Given the description of an element on the screen output the (x, y) to click on. 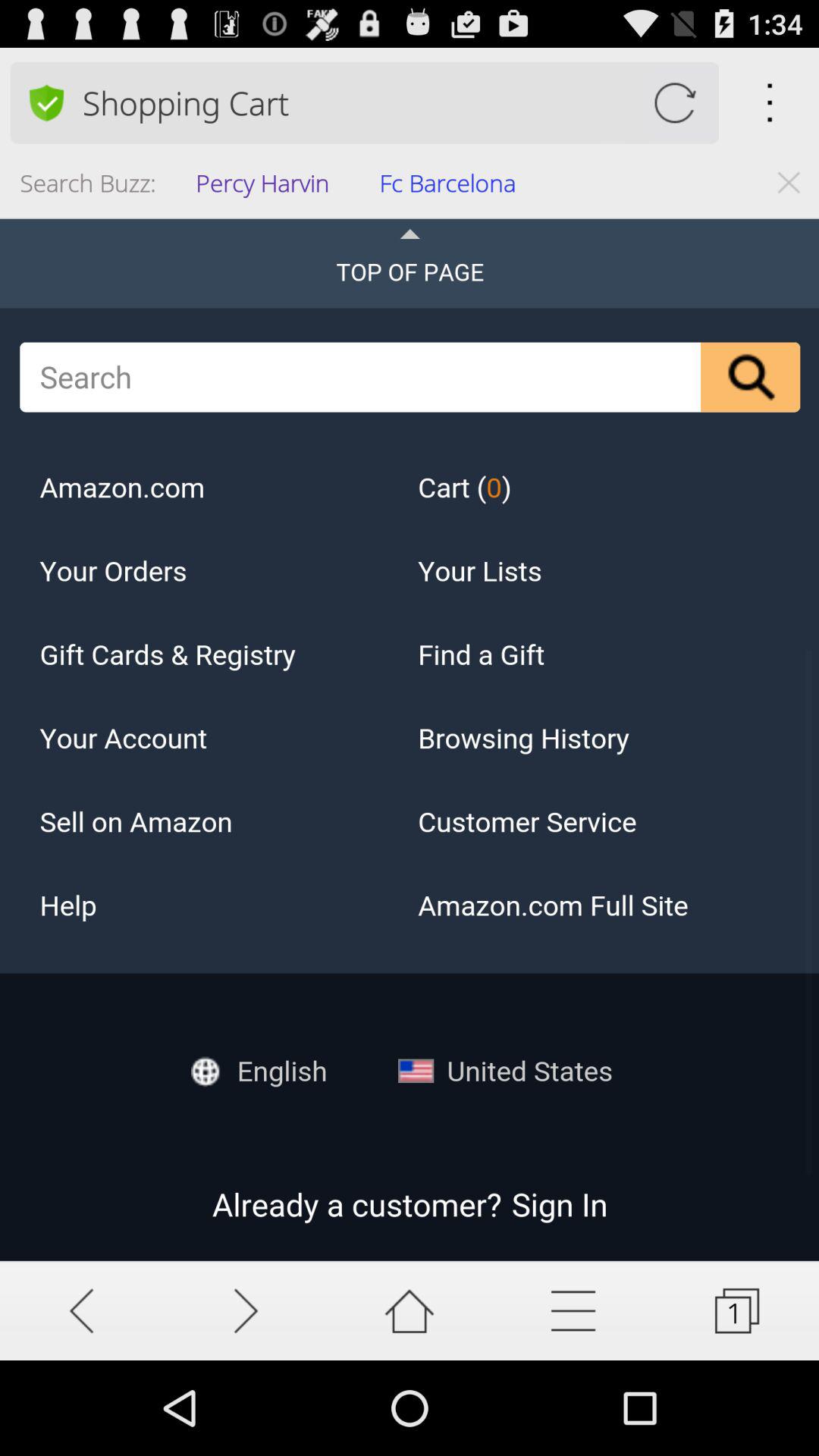
change the preference search option (46, 102)
